Given the description of an element on the screen output the (x, y) to click on. 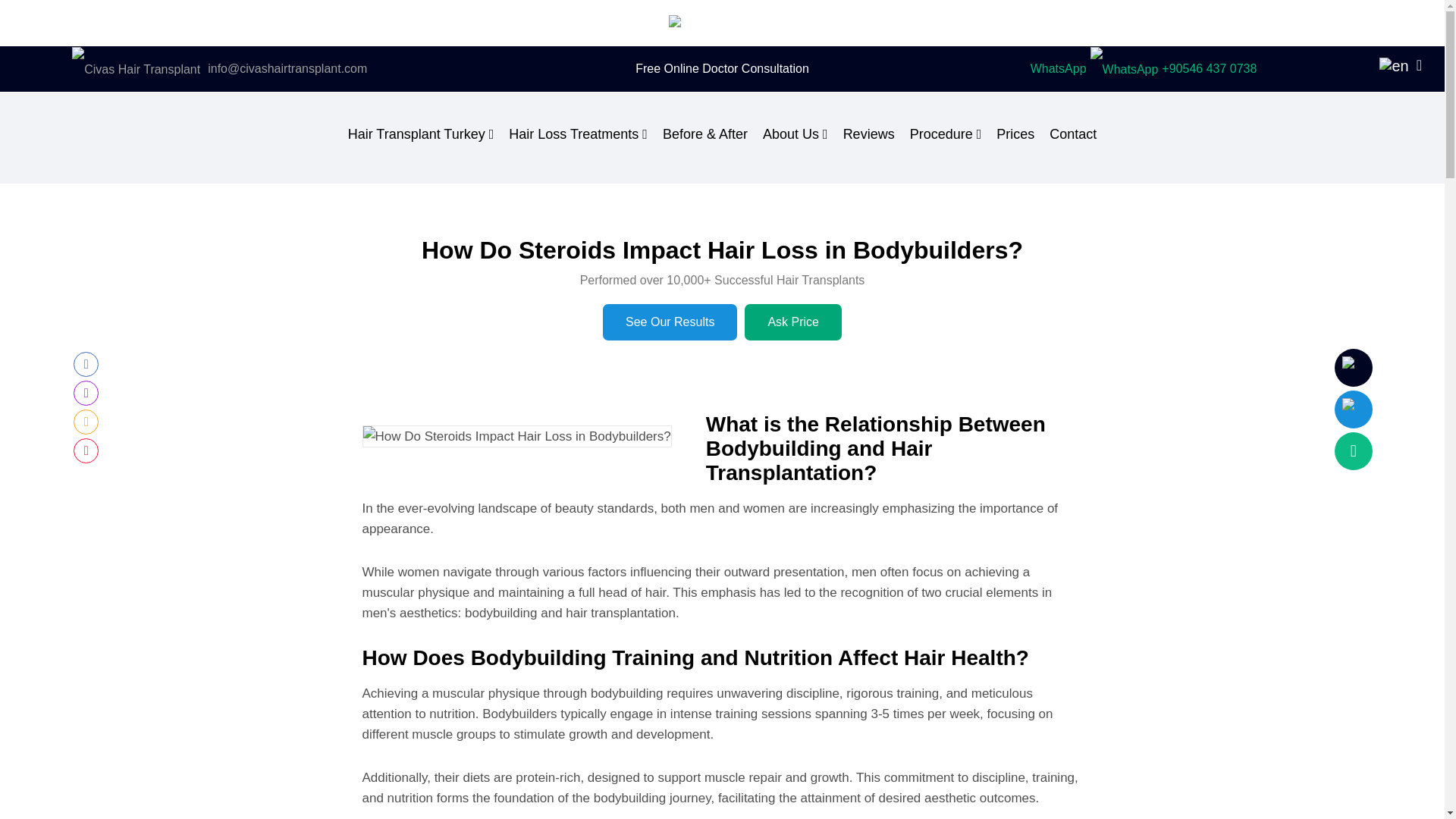
Civas Hair Transplant (721, 21)
WhatsApp (1143, 68)
Civas Hair Transplant (218, 68)
Free Online Doctor Consultation (721, 68)
Free Online Doctor Consultation (721, 68)
